Given the description of an element on the screen output the (x, y) to click on. 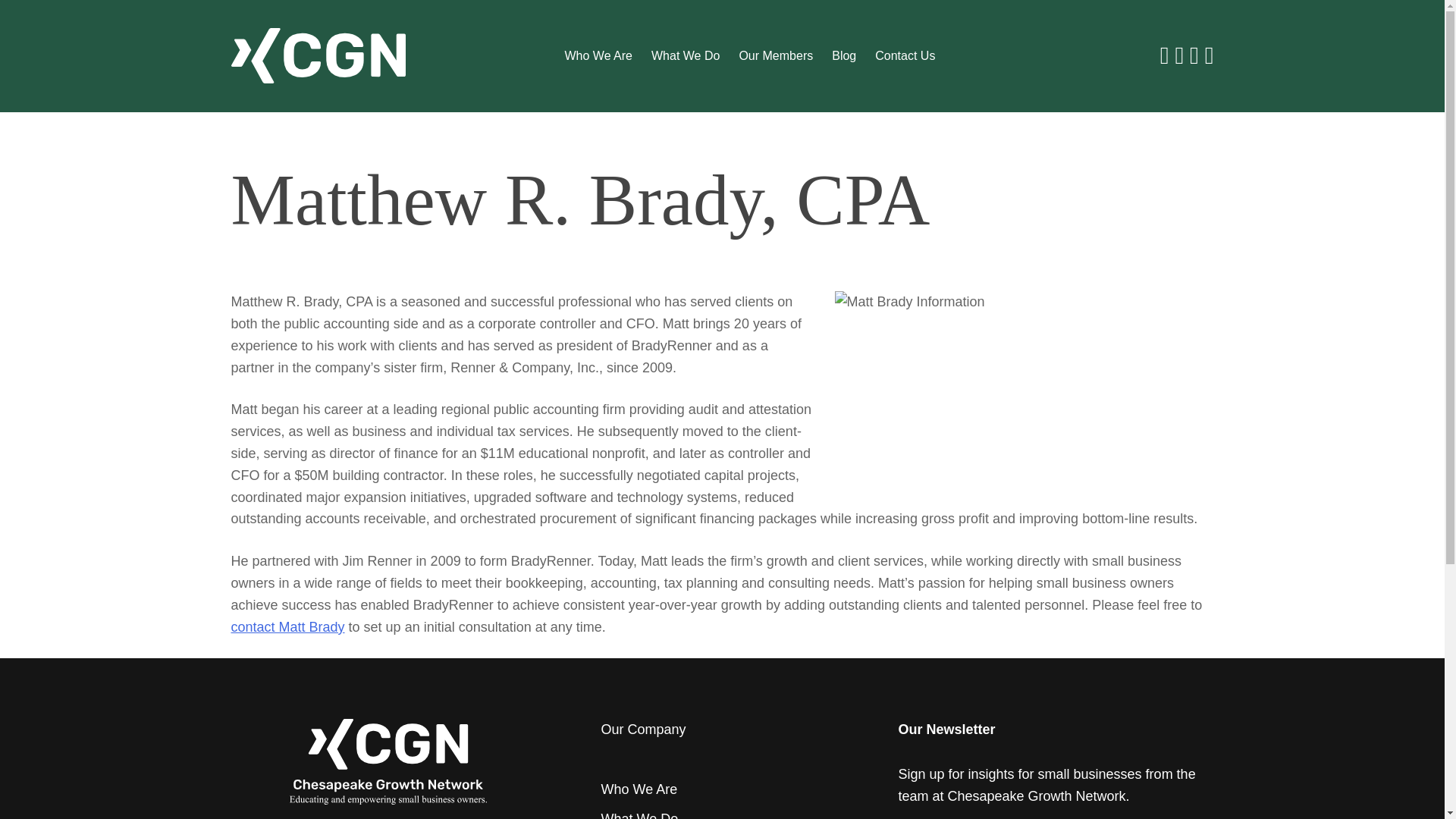
Who We Are (639, 789)
Who We Are (597, 55)
contact Matt Brady (286, 626)
Contact Us (904, 55)
Blog (843, 55)
What We Do (639, 815)
What We Do (684, 55)
Our Members (775, 55)
Our Company (643, 729)
